Given the description of an element on the screen output the (x, y) to click on. 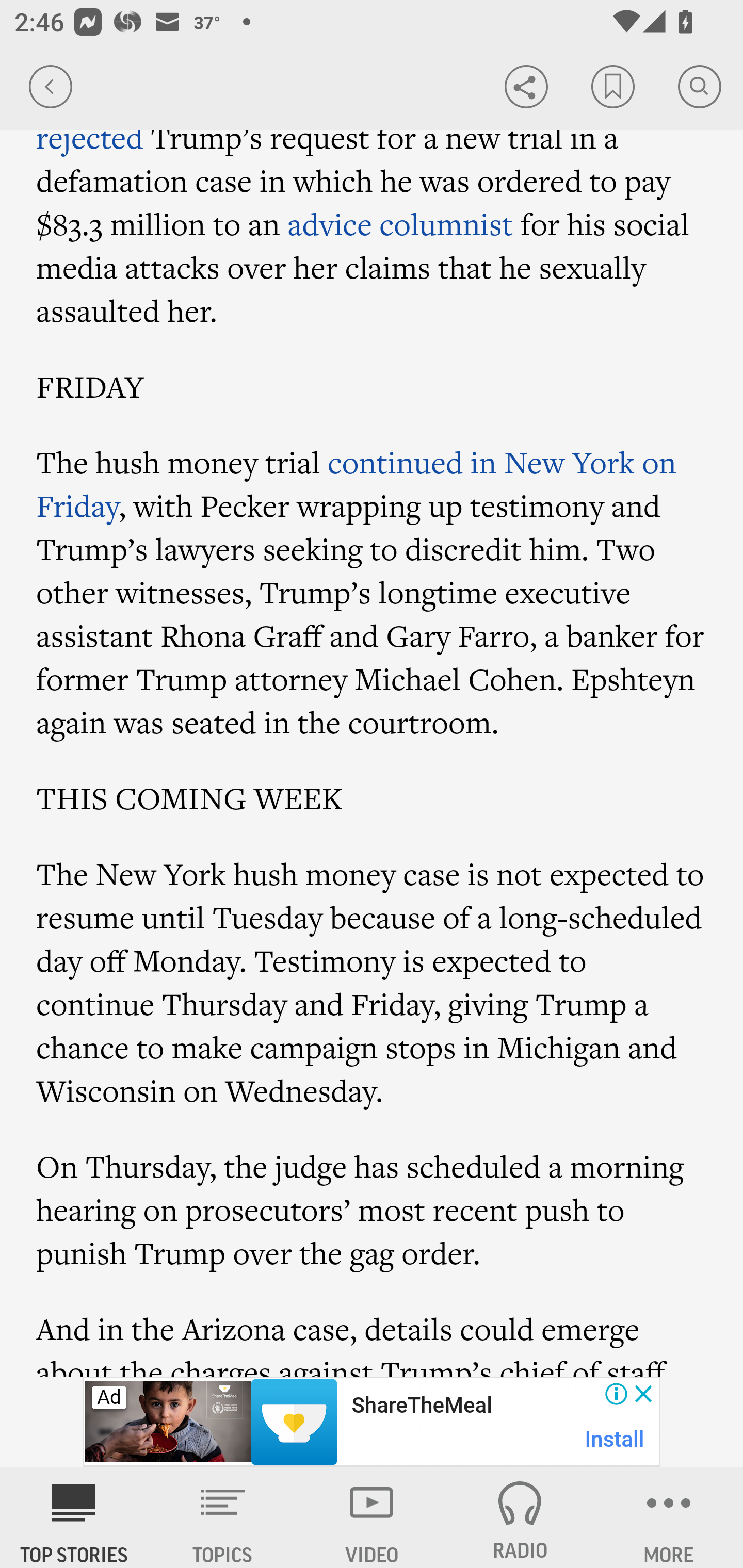
advice columnist (400, 224)
continued in New York on Friday (356, 483)
ShareTheMeal (420, 1405)
Install (614, 1438)
AP News TOP STORIES (74, 1517)
TOPICS (222, 1517)
VIDEO (371, 1517)
RADIO (519, 1517)
MORE (668, 1517)
